Given the description of an element on the screen output the (x, y) to click on. 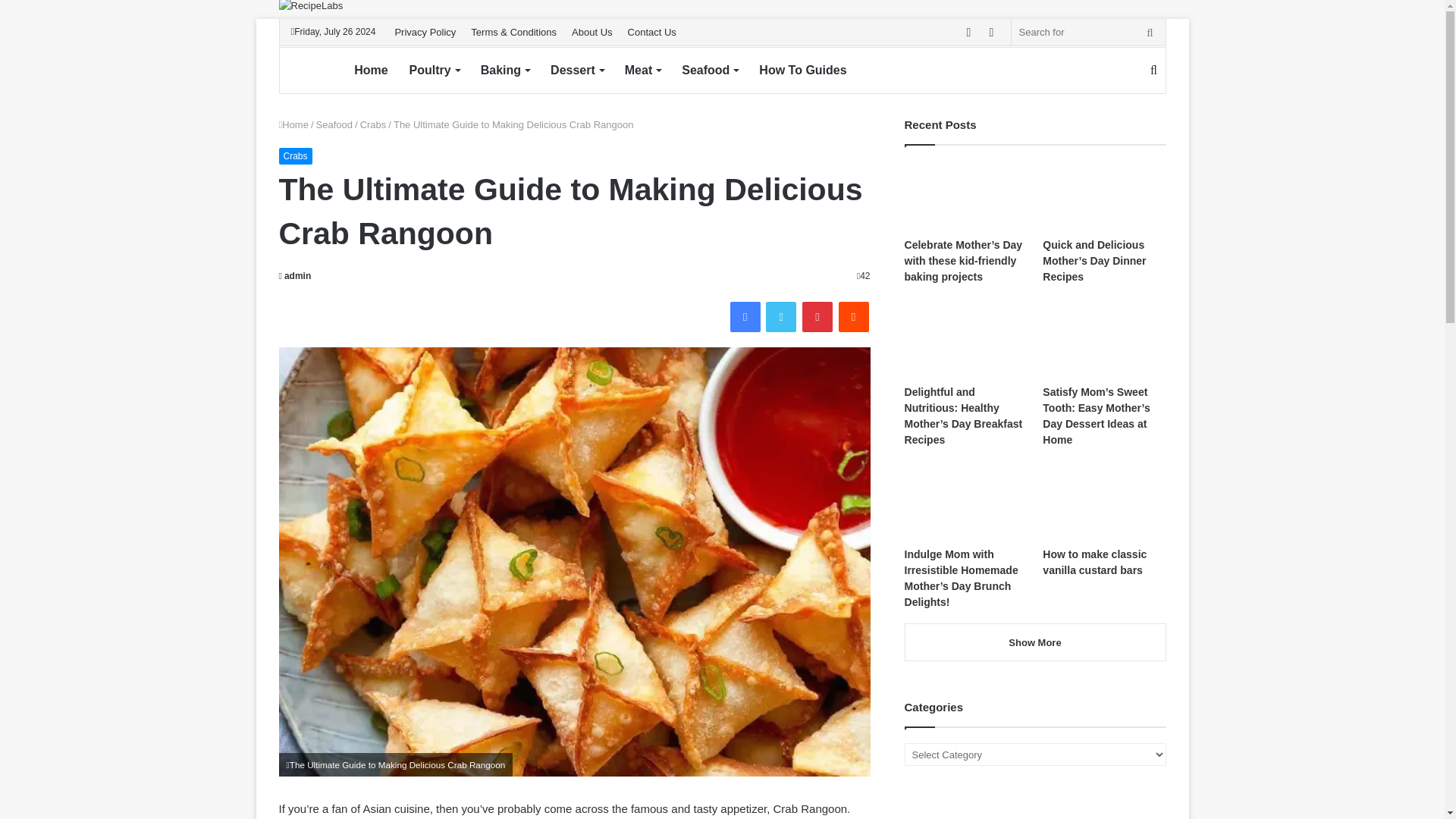
Sidebar (968, 31)
Switch skin (991, 31)
How To Guides (802, 70)
Crabs (373, 124)
Seafood (709, 70)
Search for (1152, 70)
Pinterest (817, 317)
Home (293, 124)
Privacy Policy (425, 31)
Meat (642, 70)
Crabs (296, 156)
Pinterest (817, 317)
Seafood (333, 124)
Search for (1088, 31)
Twitter (780, 317)
